Given the description of an element on the screen output the (x, y) to click on. 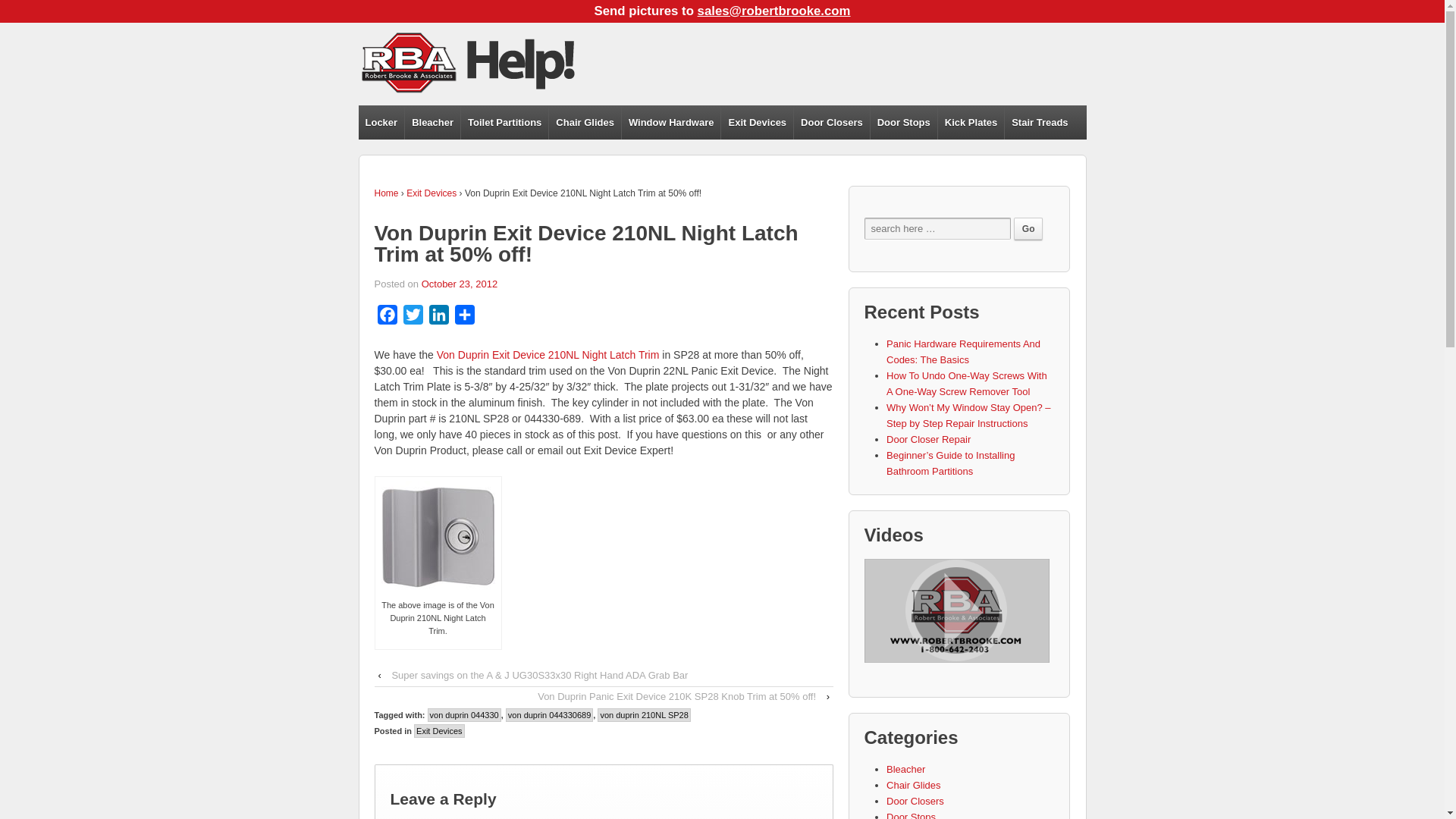
Door Closers (831, 122)
Twitter (413, 317)
Exit Devices (431, 193)
October 23, 2012 (459, 283)
Door Closer Repair (928, 439)
How To Undo One-Way Screws With A One-Way Screw Remover Tool (966, 383)
Window Hardware (670, 122)
Door Closers (914, 800)
Exit Devices (756, 122)
Von Duprin Exit Device 210NL Night Latch Trim (546, 354)
